Given the description of an element on the screen output the (x, y) to click on. 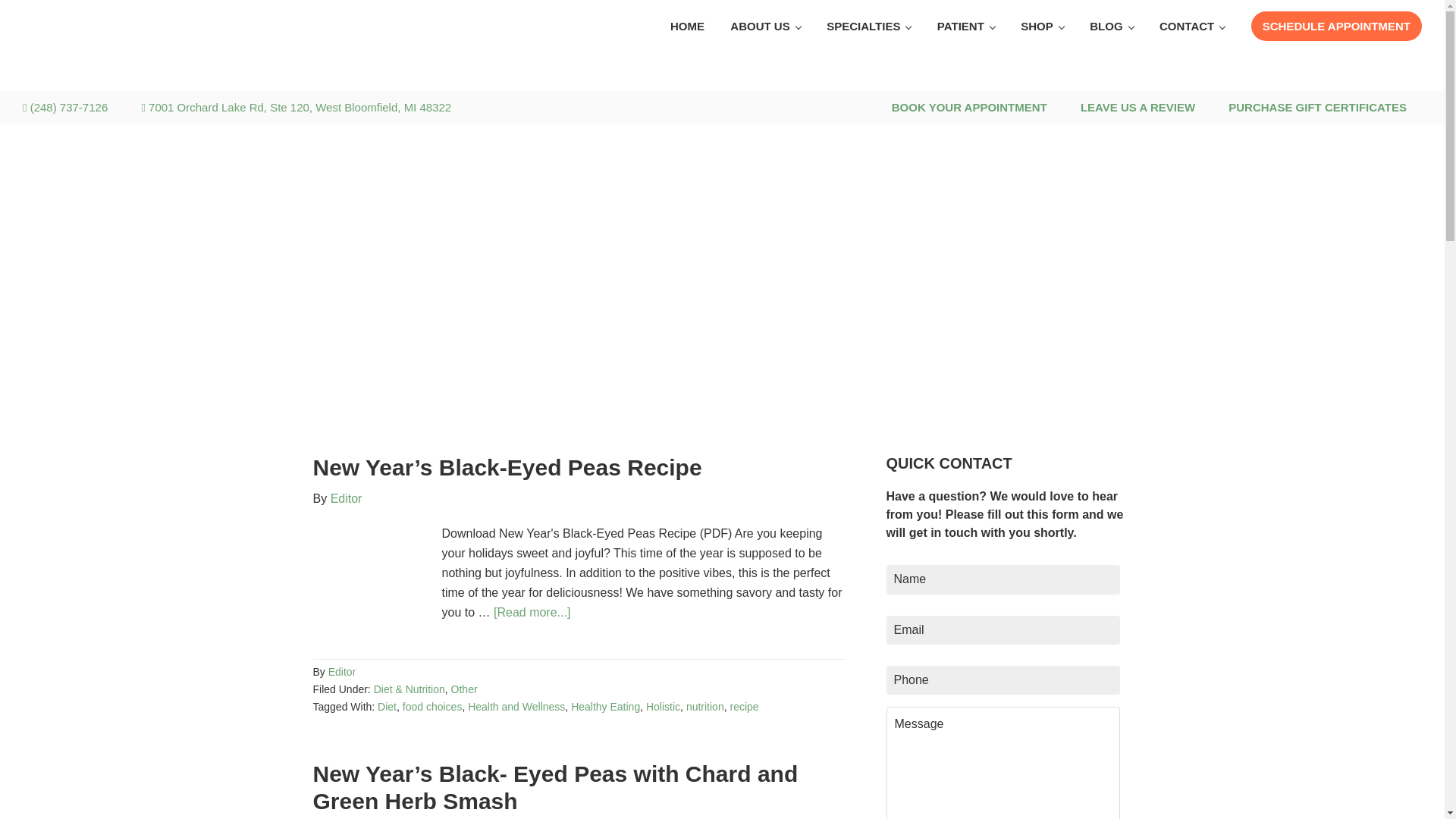
ABOUT US (764, 25)
SPECIALTIES (868, 25)
BLOG (1111, 25)
HOME (687, 25)
PATIENT (966, 25)
SHOP (1042, 25)
